Given the description of an element on the screen output the (x, y) to click on. 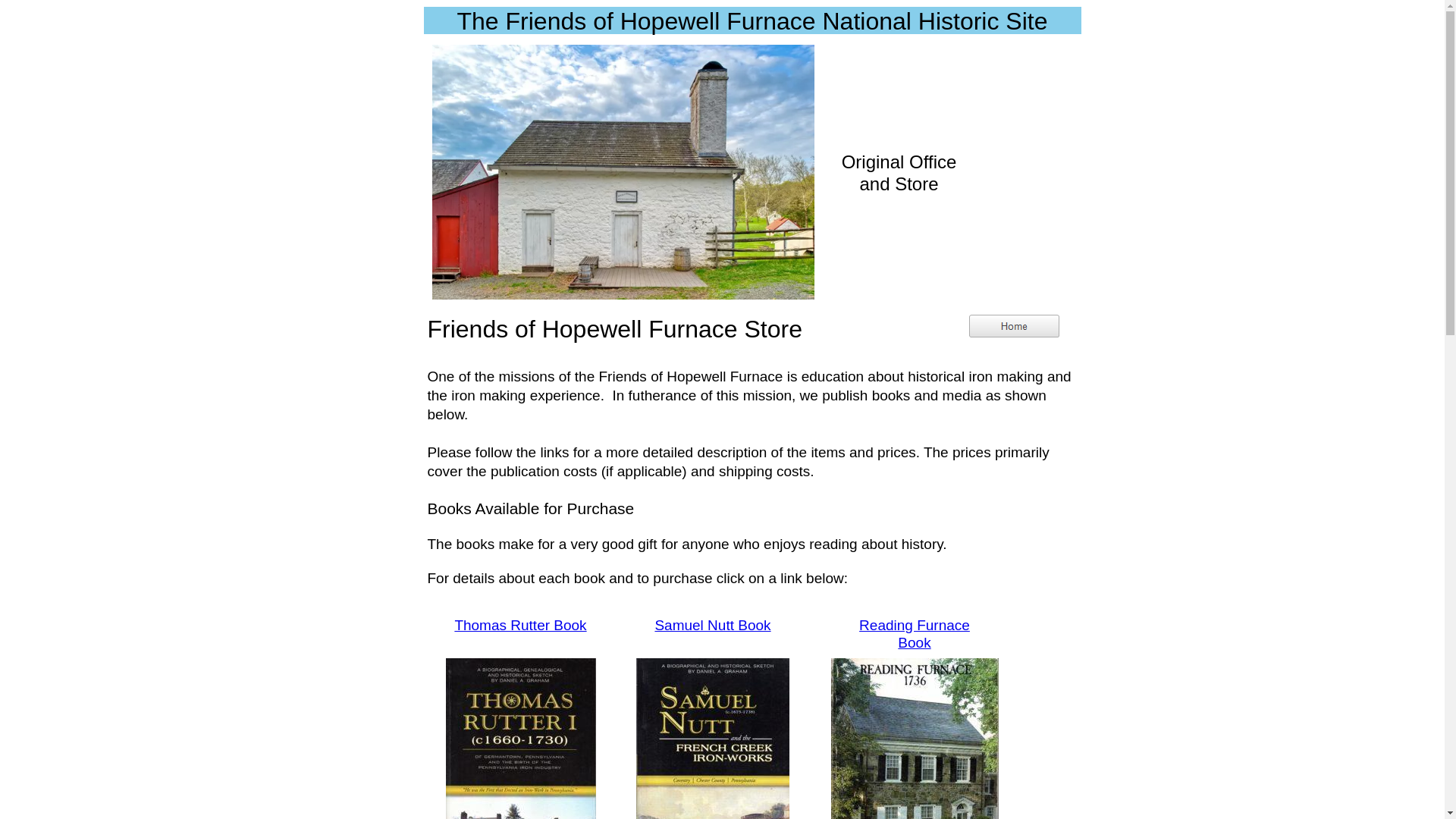
Samuel Nutt Book (711, 625)
Reading Furnace Book (914, 633)
Thomas Rutter Book (520, 625)
